Given the description of an element on the screen output the (x, y) to click on. 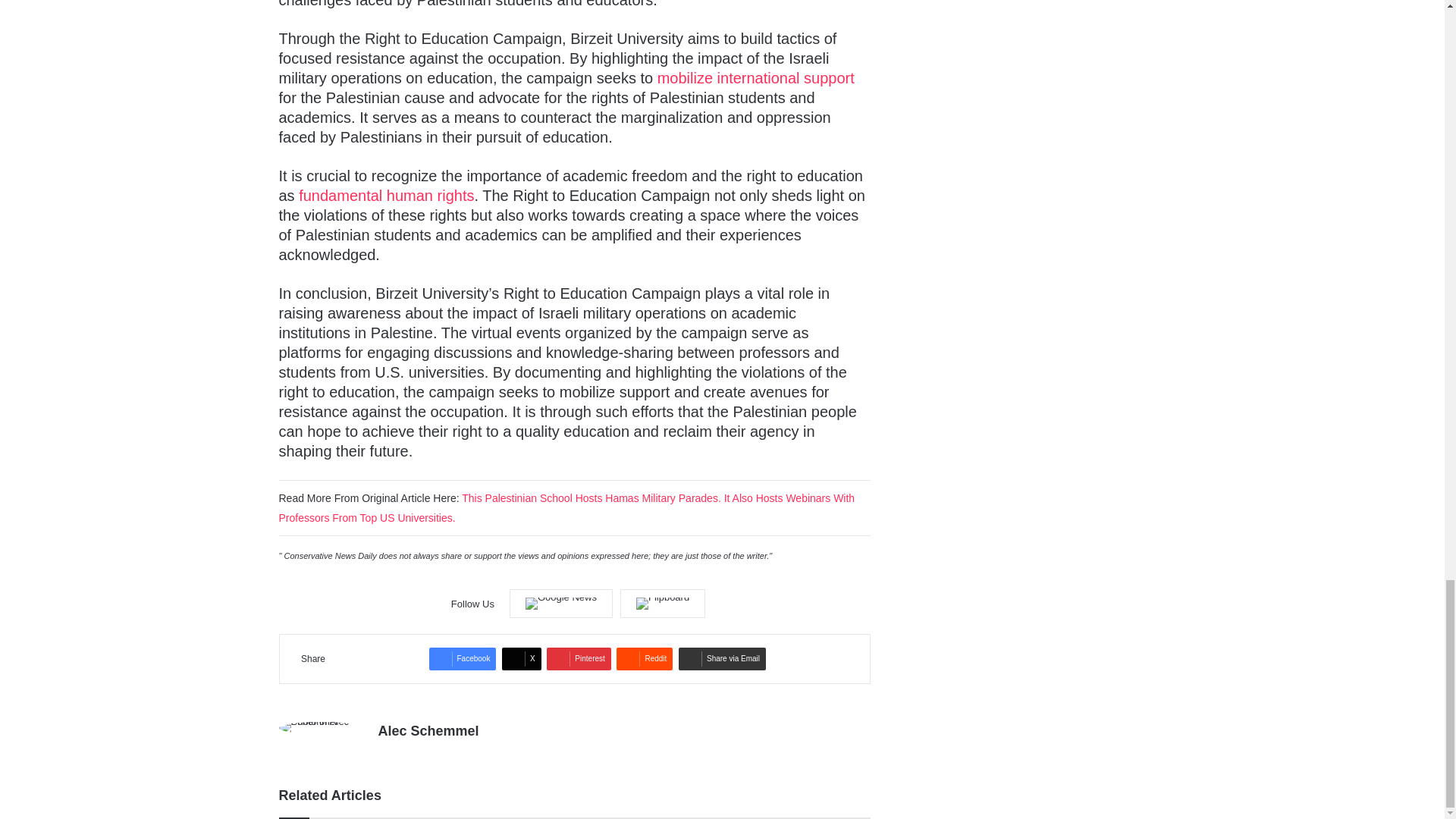
fundamental human rights (386, 195)
Pinterest (578, 658)
Reddit (643, 658)
Facebook (462, 658)
Facebook (462, 658)
Share via Email (721, 658)
X (521, 658)
X (521, 658)
Alec Schemmel (428, 730)
mobilize international support (756, 77)
Pinterest (578, 658)
Google News (560, 603)
